Given the description of an element on the screen output the (x, y) to click on. 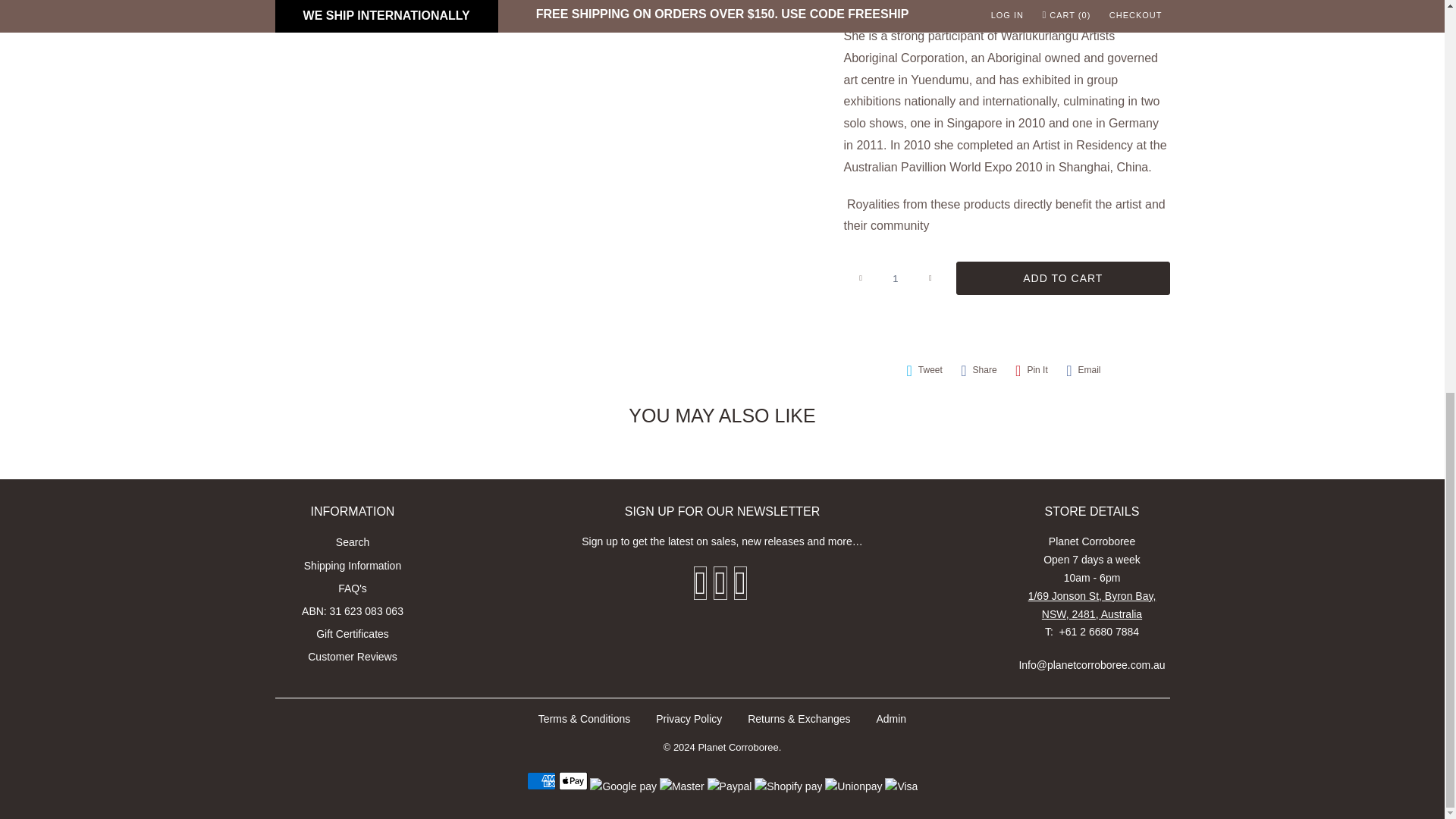
1 (895, 277)
Contact page full details and map (1091, 604)
Share this on Twitter (923, 370)
Share this on Facebook (978, 370)
Share this on Pinterest (1031, 370)
Email this to a friend (1083, 370)
